Given the description of an element on the screen output the (x, y) to click on. 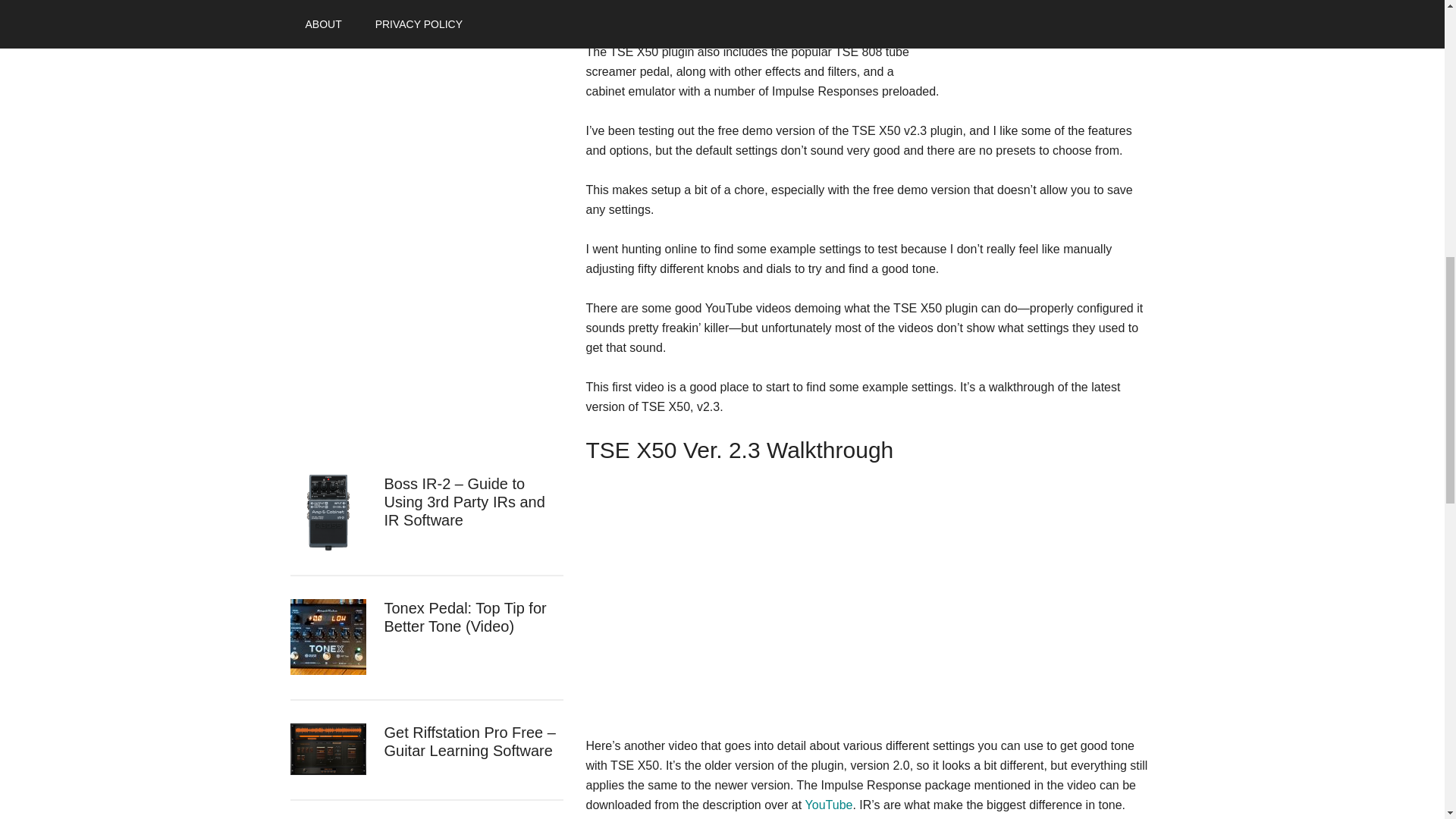
YouTube (829, 804)
Advertisement (402, 219)
